Given the description of an element on the screen output the (x, y) to click on. 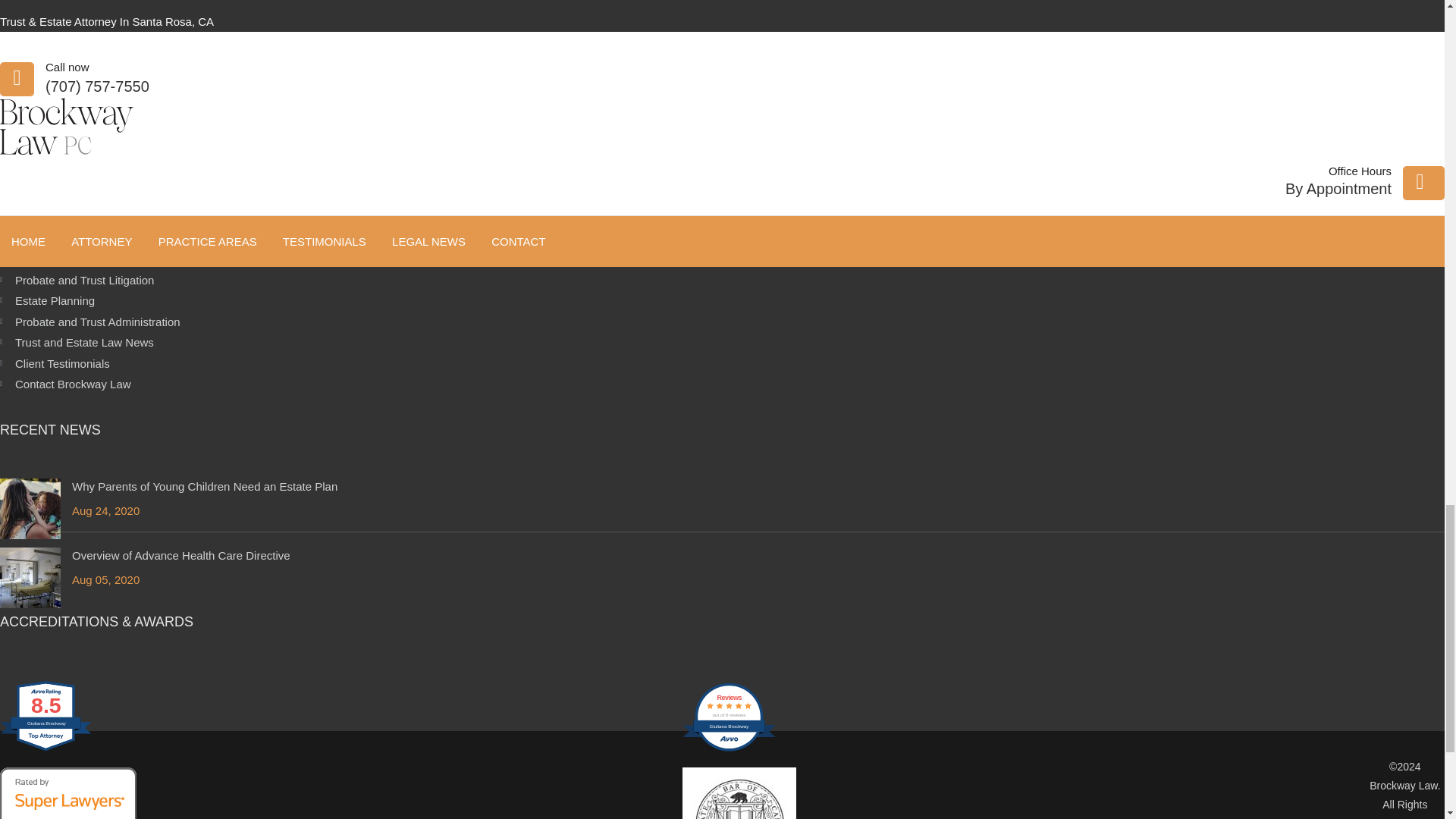
Probate and Trust Administration (97, 321)
About Brockway Law (67, 258)
Client Testimonials (62, 363)
Trust and Estate Law News (84, 341)
Estate Planning (54, 300)
Probate and Trust Litigation (84, 279)
